Given the description of an element on the screen output the (x, y) to click on. 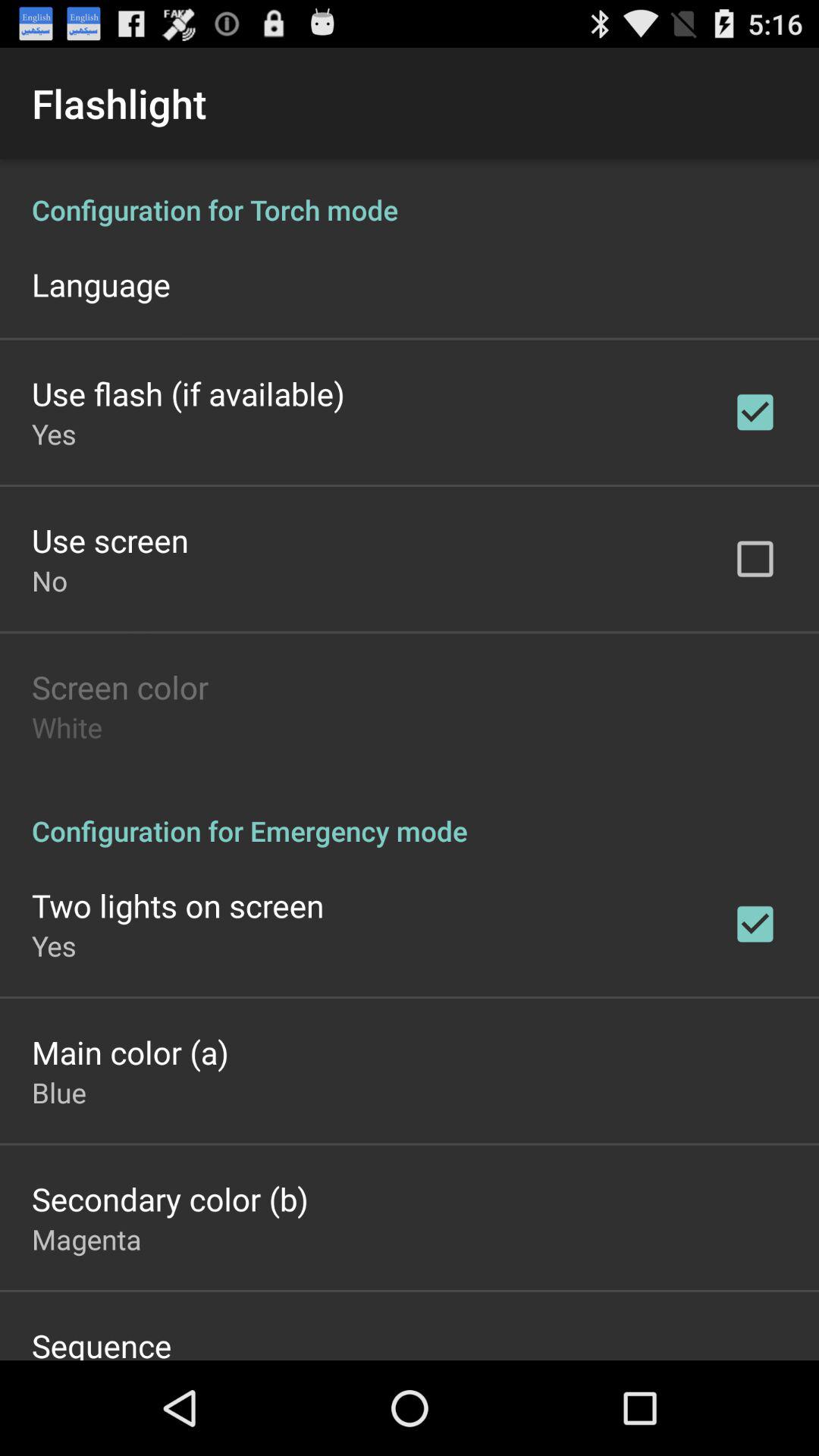
click the language (100, 283)
